Given the description of an element on the screen output the (x, y) to click on. 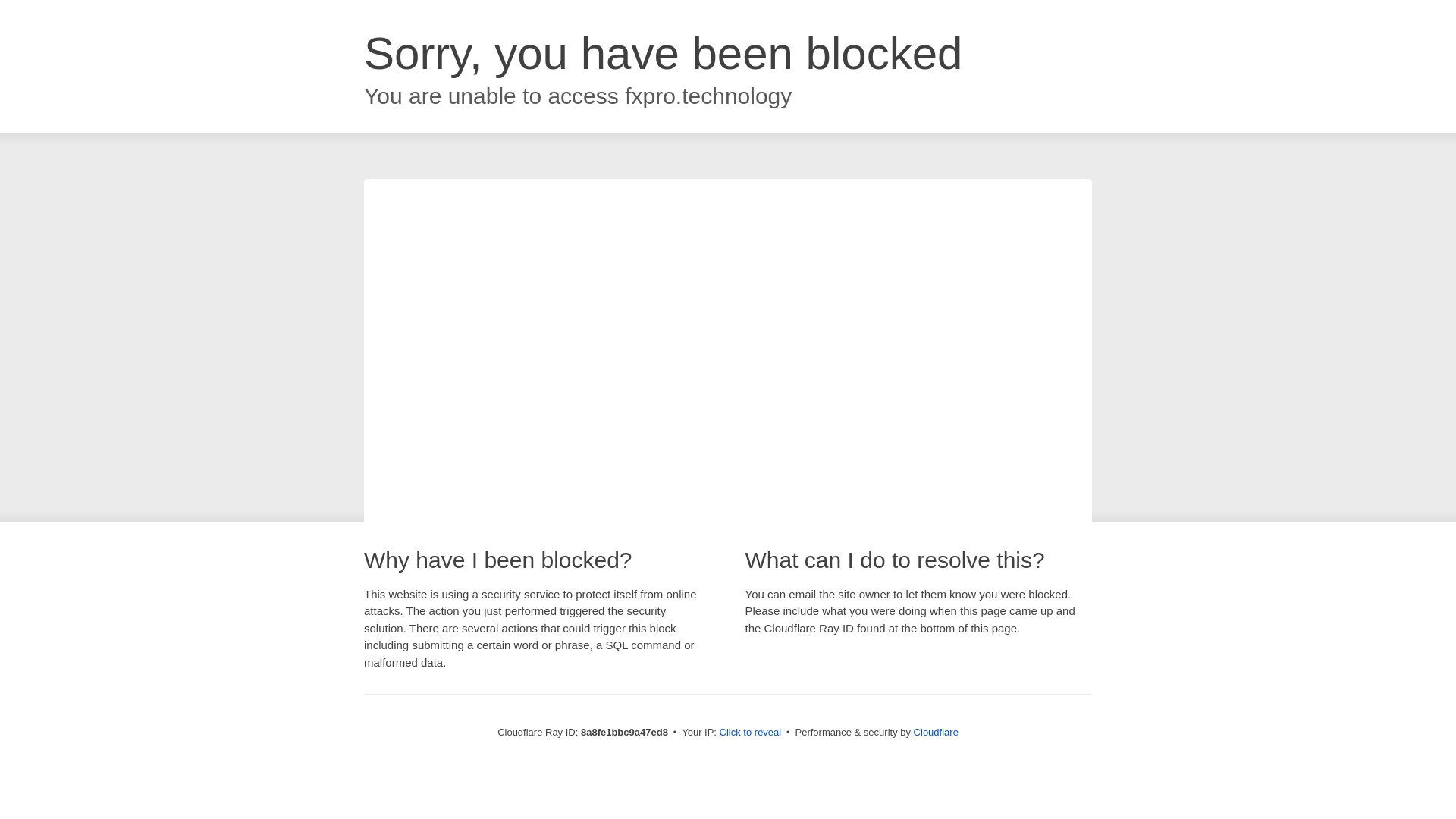
Cloudflare (936, 731)
Click to reveal (750, 732)
